Given the description of an element on the screen output the (x, y) to click on. 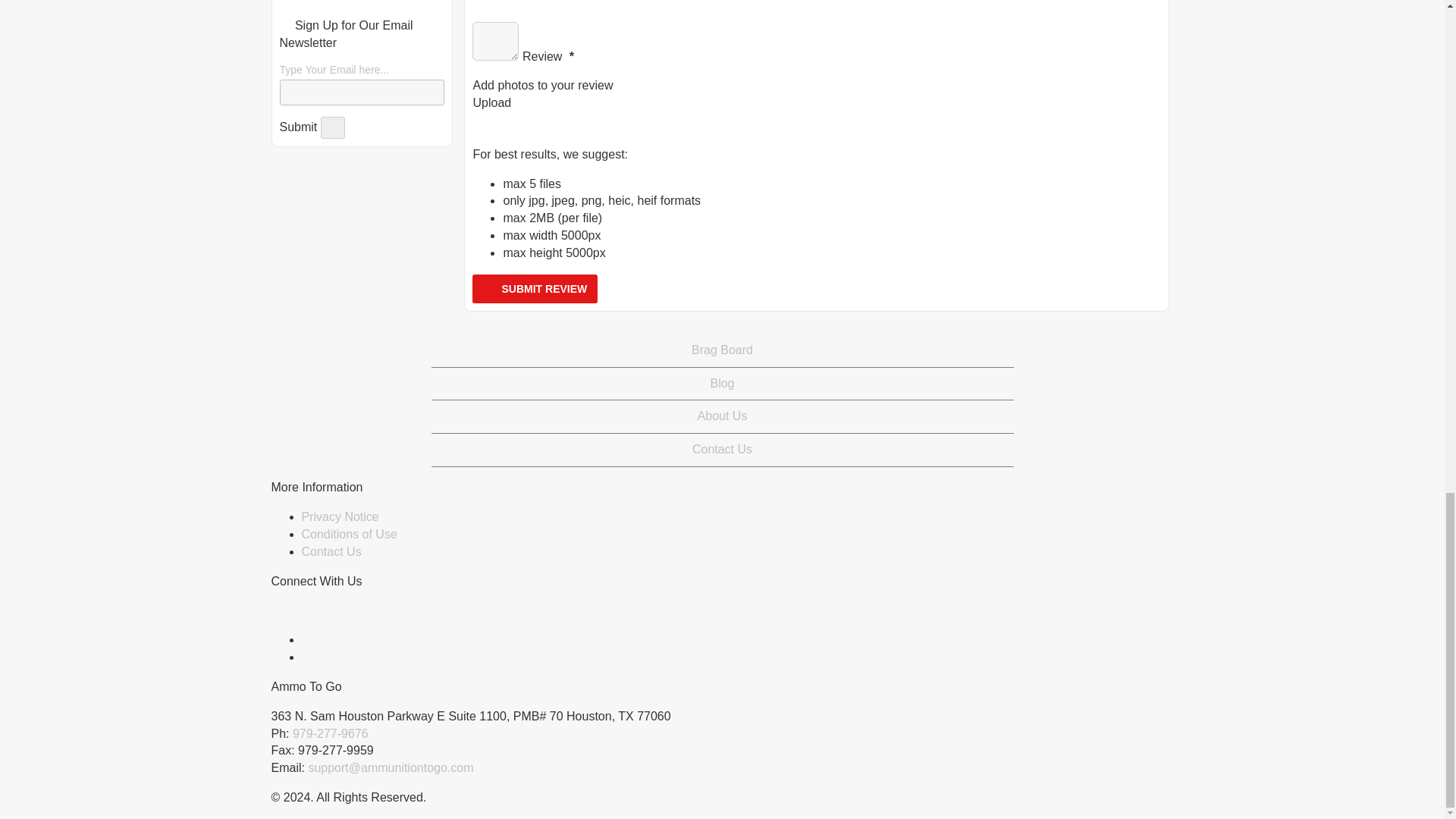
SUBMIT REVIEW (533, 288)
Submit Review (533, 288)
